Given the description of an element on the screen output the (x, y) to click on. 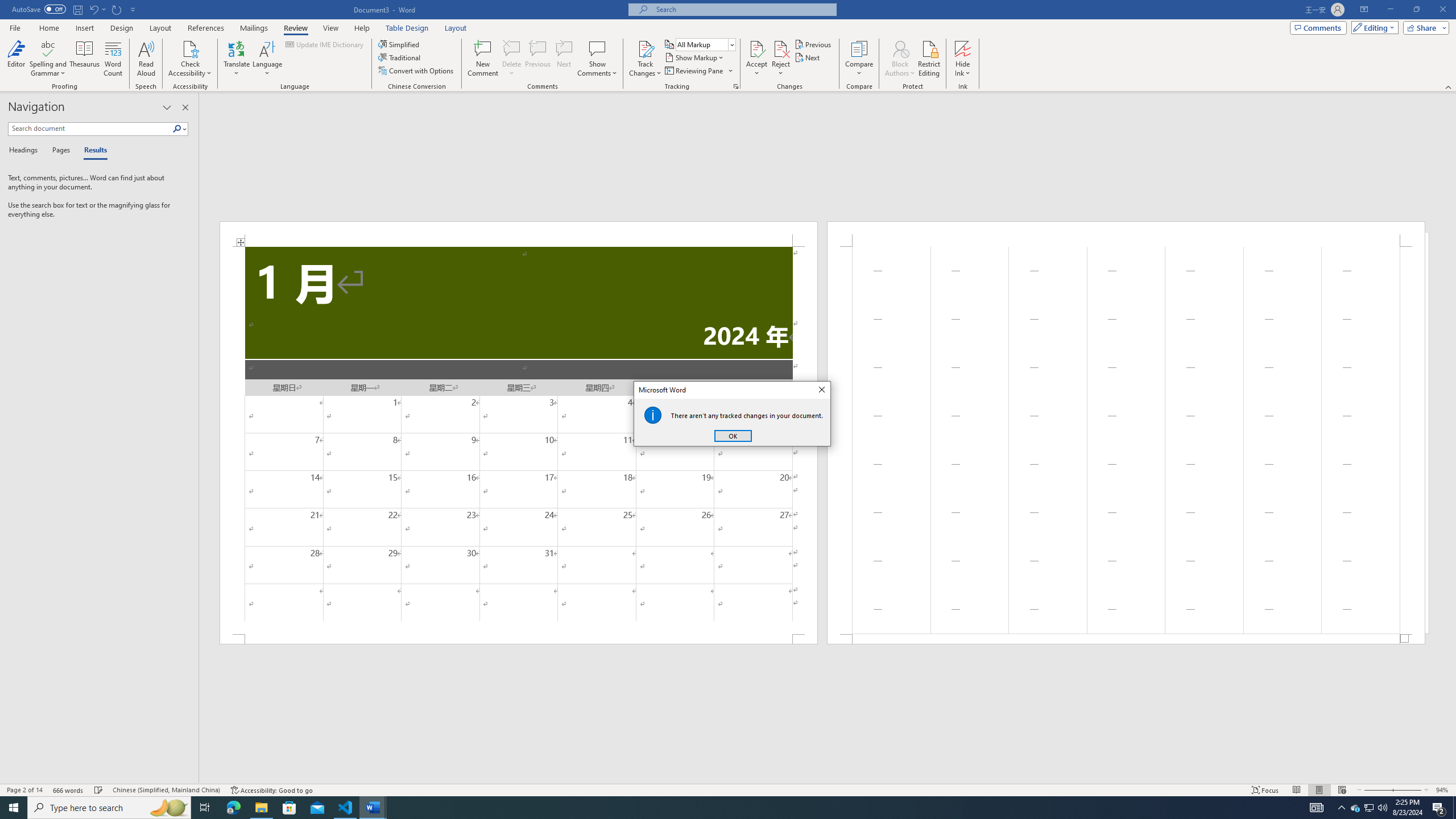
Track Changes (644, 48)
Language (267, 58)
New Comment (482, 58)
Block Authors (900, 48)
Show Markup (695, 56)
